Given the description of an element on the screen output the (x, y) to click on. 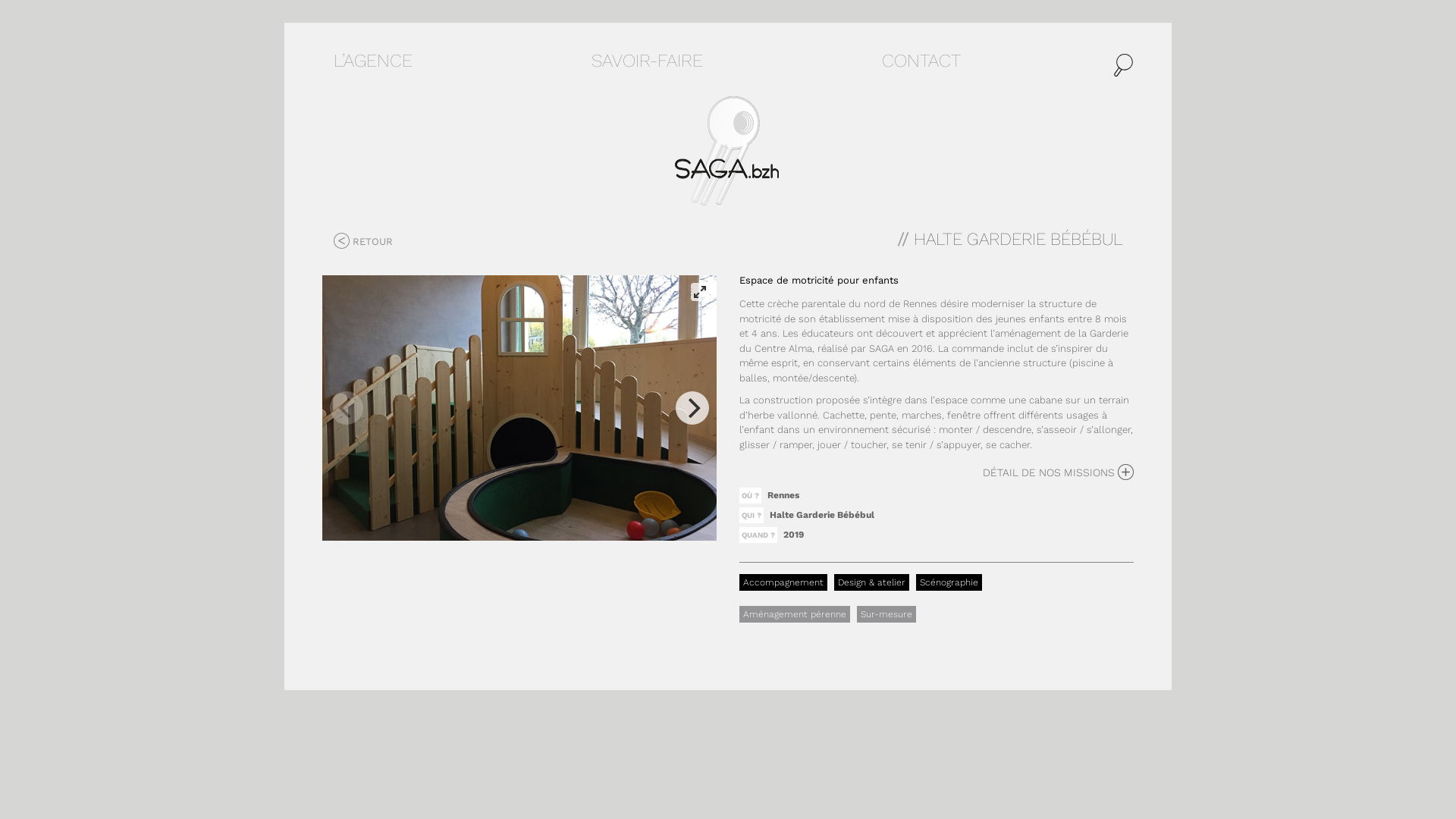
Sur-mesure Element type: text (886, 613)
Design & atelier Element type: text (871, 582)
View full-screen Element type: hover (699, 291)
Accompagnement Element type: text (783, 582)
CONTACT Element type: text (920, 60)
RETOUR Element type: text (362, 241)
SAVOIR-FAIRE Element type: text (646, 60)
